Given the description of an element on the screen output the (x, y) to click on. 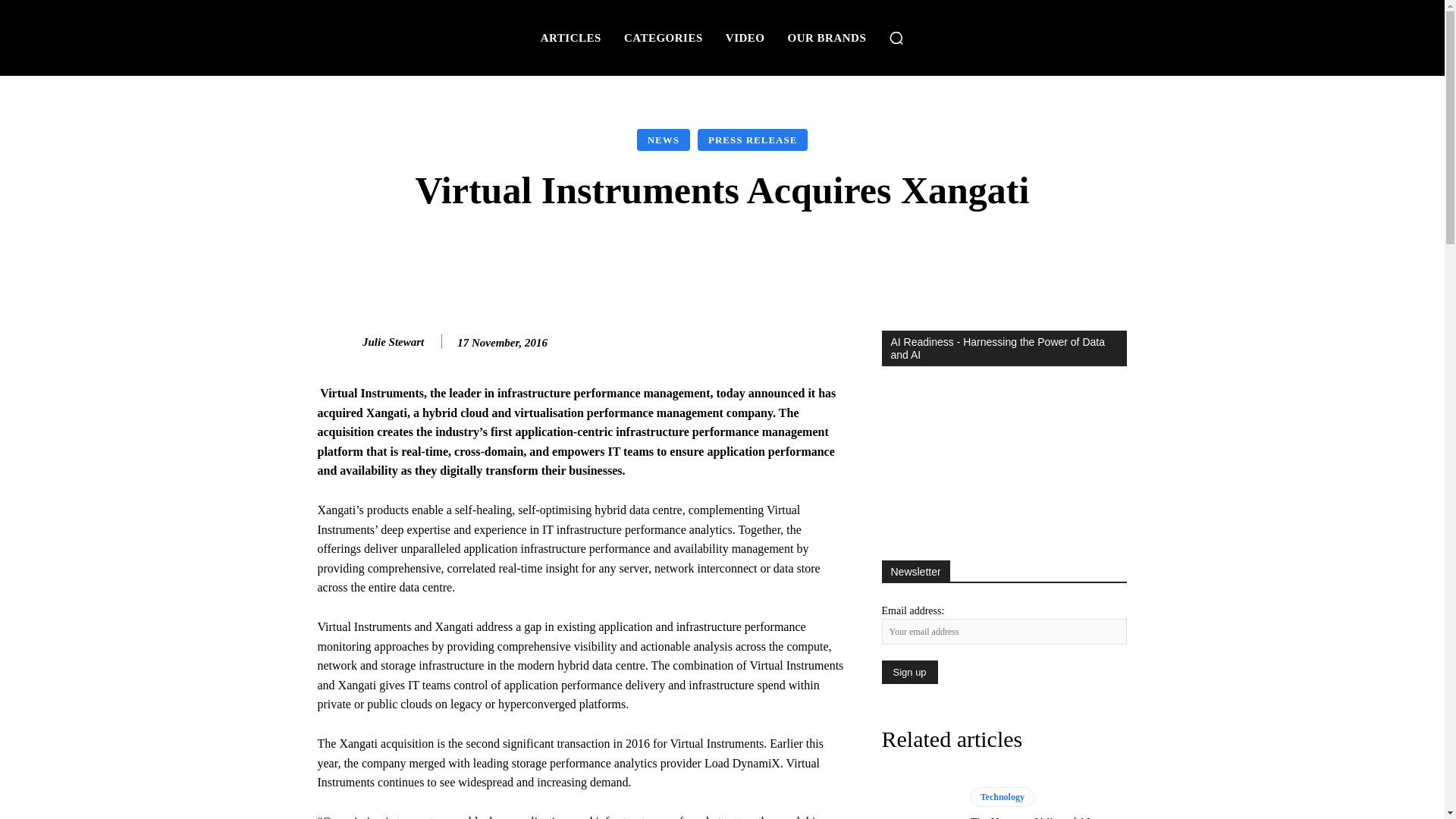
Sign up (908, 671)
